Given the description of an element on the screen output the (x, y) to click on. 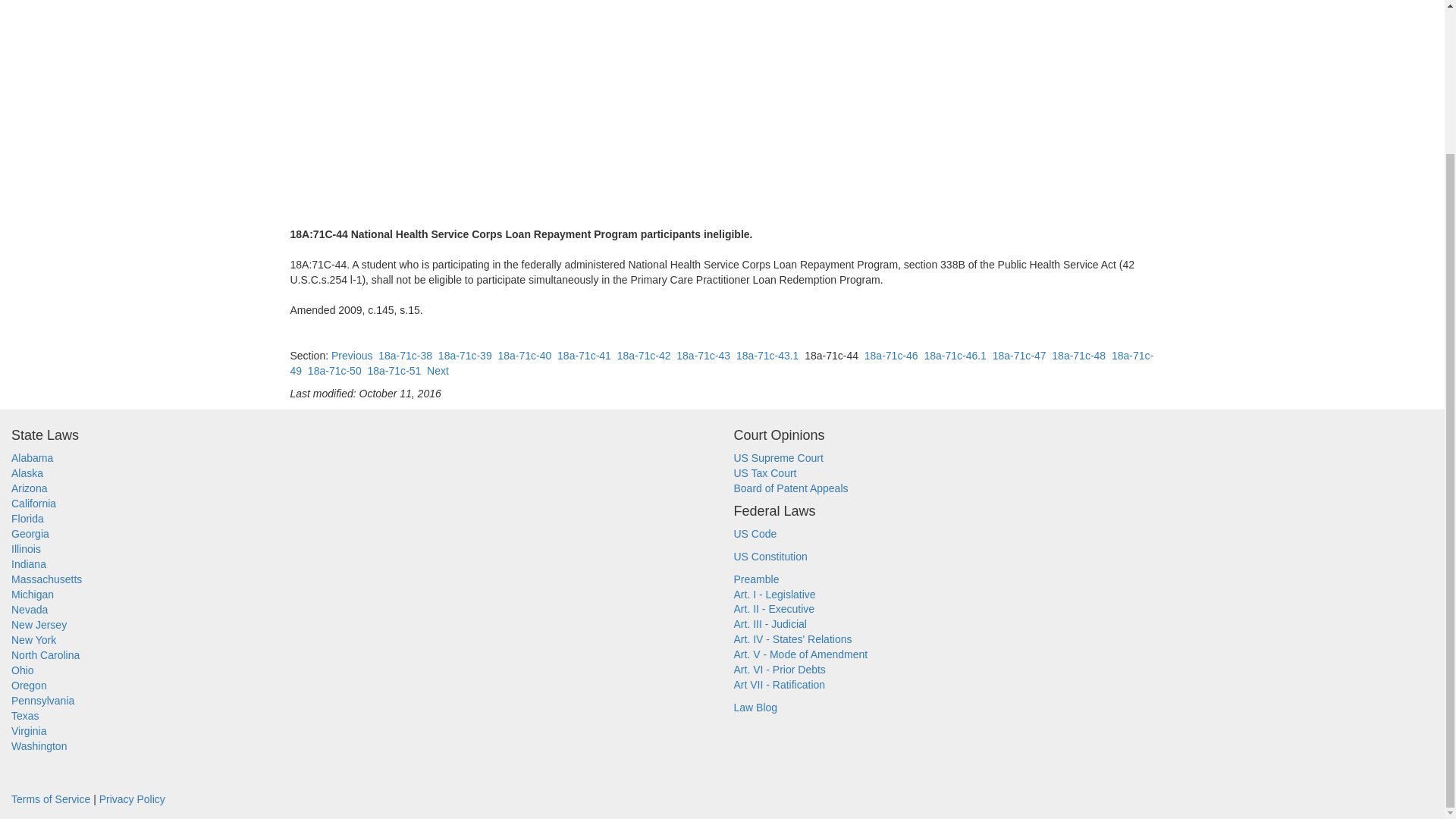
18a-71c-46.1 (955, 355)
18a-71c-51 (393, 370)
18a-71c-43.1 (767, 355)
18a-71c-48 (1078, 355)
Nevada (29, 609)
North Carolina (45, 654)
18a-71c-40 (524, 355)
Alaska (27, 472)
18a-71c-47 (1019, 355)
